Given the description of an element on the screen output the (x, y) to click on. 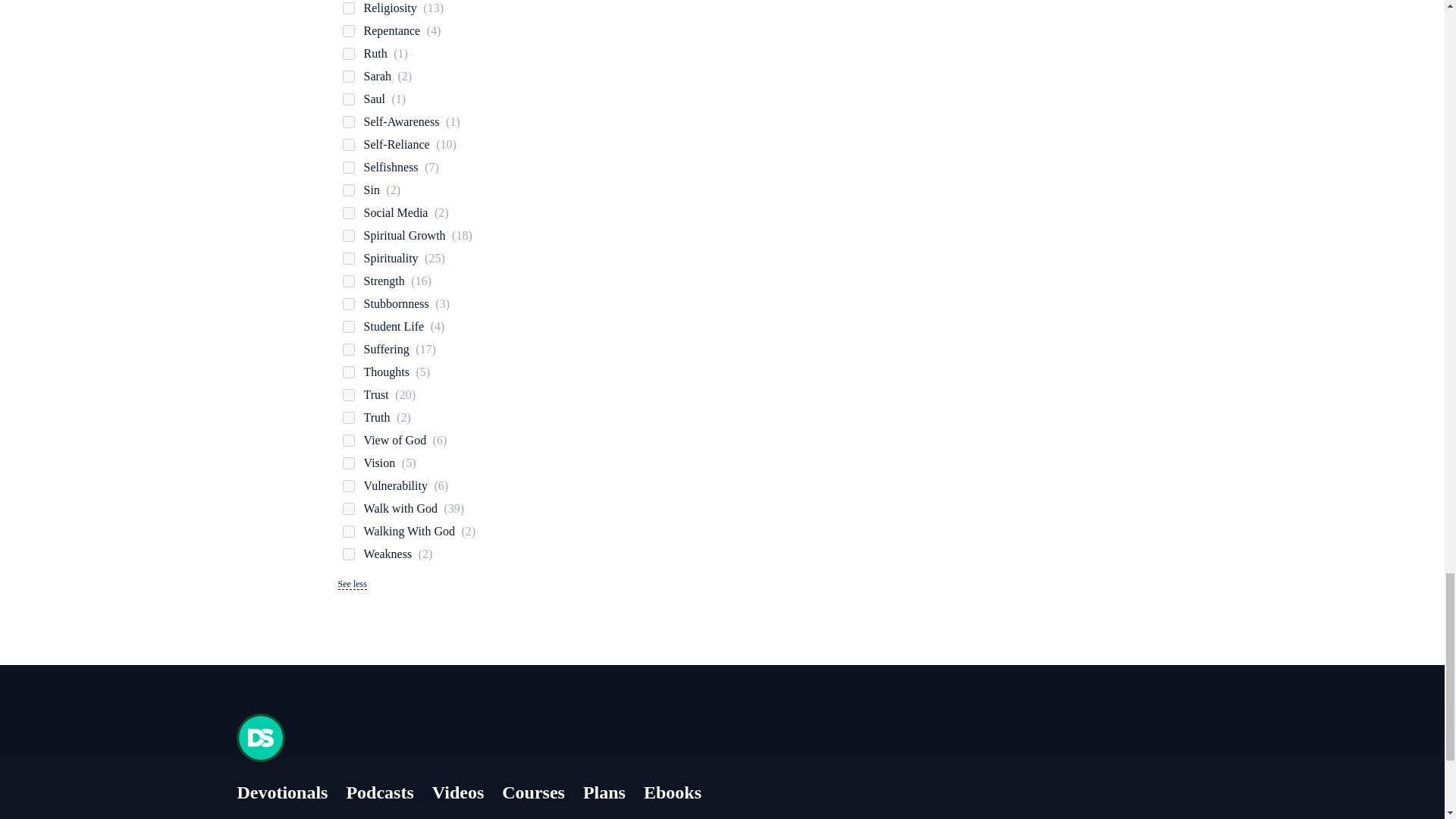
DS Icon (260, 737)
